Given the description of an element on the screen output the (x, y) to click on. 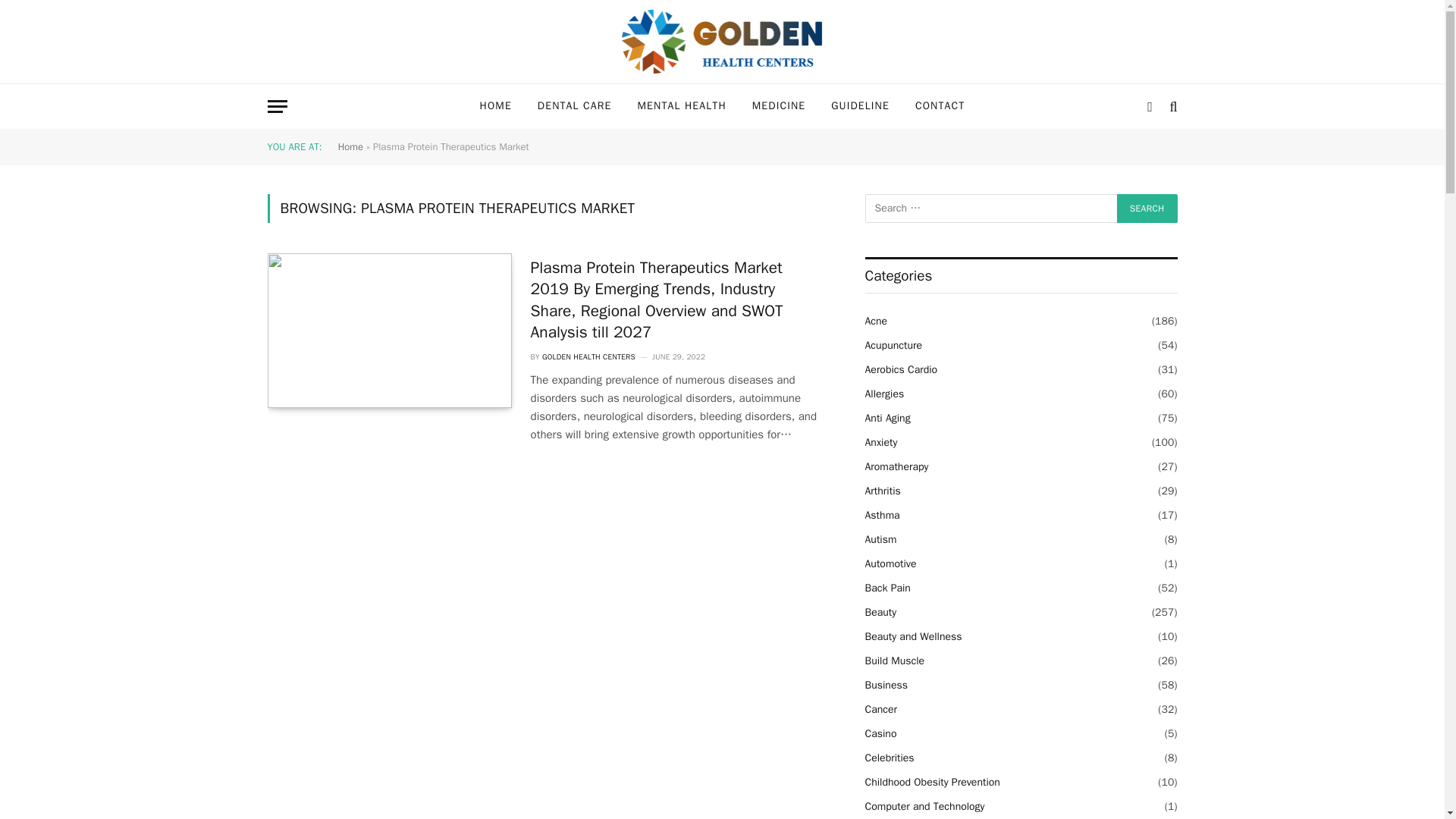
Search (1146, 208)
Acupuncture (892, 344)
GUIDELINE (860, 106)
Posts by Golden Health Centers (587, 356)
Search (1146, 208)
Search (1146, 208)
GOLDEN HEALTH CENTERS (587, 356)
Aromatherapy (896, 466)
CONTACT (939, 106)
Anxiety (881, 442)
